Given the description of an element on the screen output the (x, y) to click on. 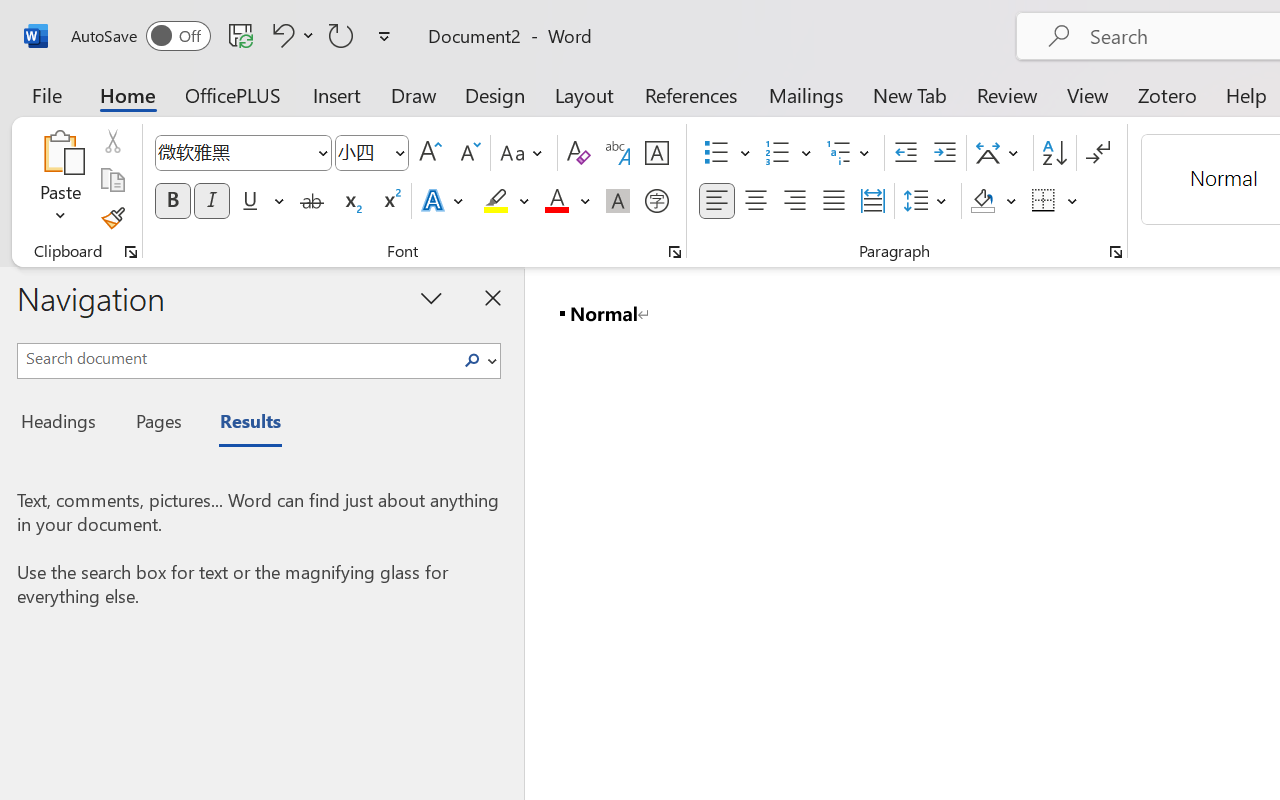
Font Color (567, 201)
Undo Style (280, 35)
Font Color Red (556, 201)
Zotero (1166, 94)
Office Clipboard... (131, 252)
Increase Indent (944, 153)
Align Right (794, 201)
Clear Formatting (578, 153)
Draw (413, 94)
Text Highlight Color (506, 201)
Open (399, 152)
View (1087, 94)
Sort... (1054, 153)
Results (240, 424)
